Given the description of an element on the screen output the (x, y) to click on. 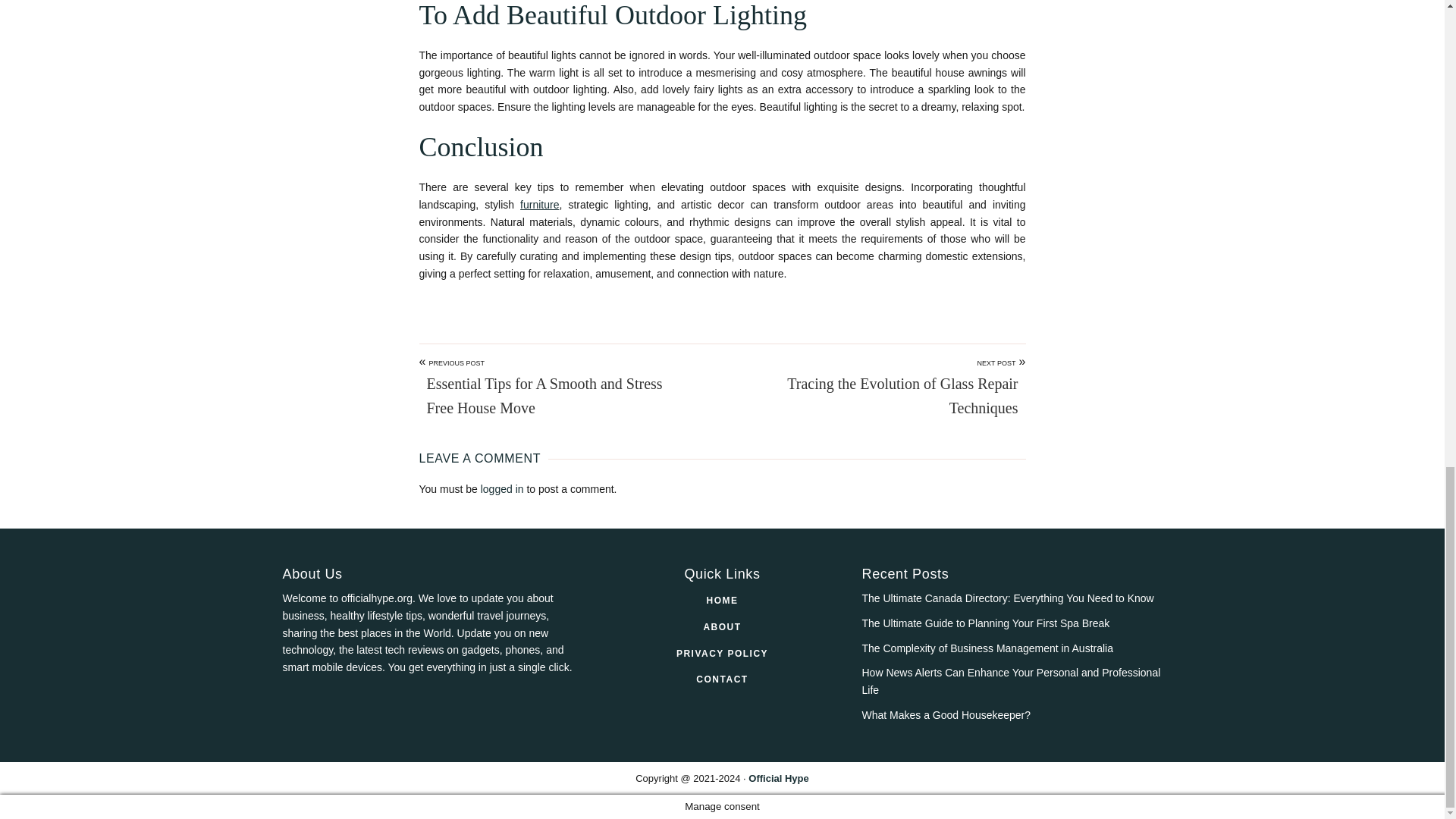
The Ultimate Guide to Planning Your First Spa Break (985, 623)
Official Hype (778, 778)
Tracing the Evolution of Glass Repair Techniques (888, 395)
Essential Tips for A Smooth and Stress Free House Move (555, 395)
CONTACT (721, 679)
logged in (502, 489)
furniture (539, 204)
What Makes a Good Housekeeper? (945, 715)
HOME (722, 600)
PRIVACY POLICY (722, 653)
ABOUT (721, 626)
The Ultimate Canada Directory: Everything You Need to Know (1007, 598)
The Complexity of Business Management in Australia (987, 648)
